Given the description of an element on the screen output the (x, y) to click on. 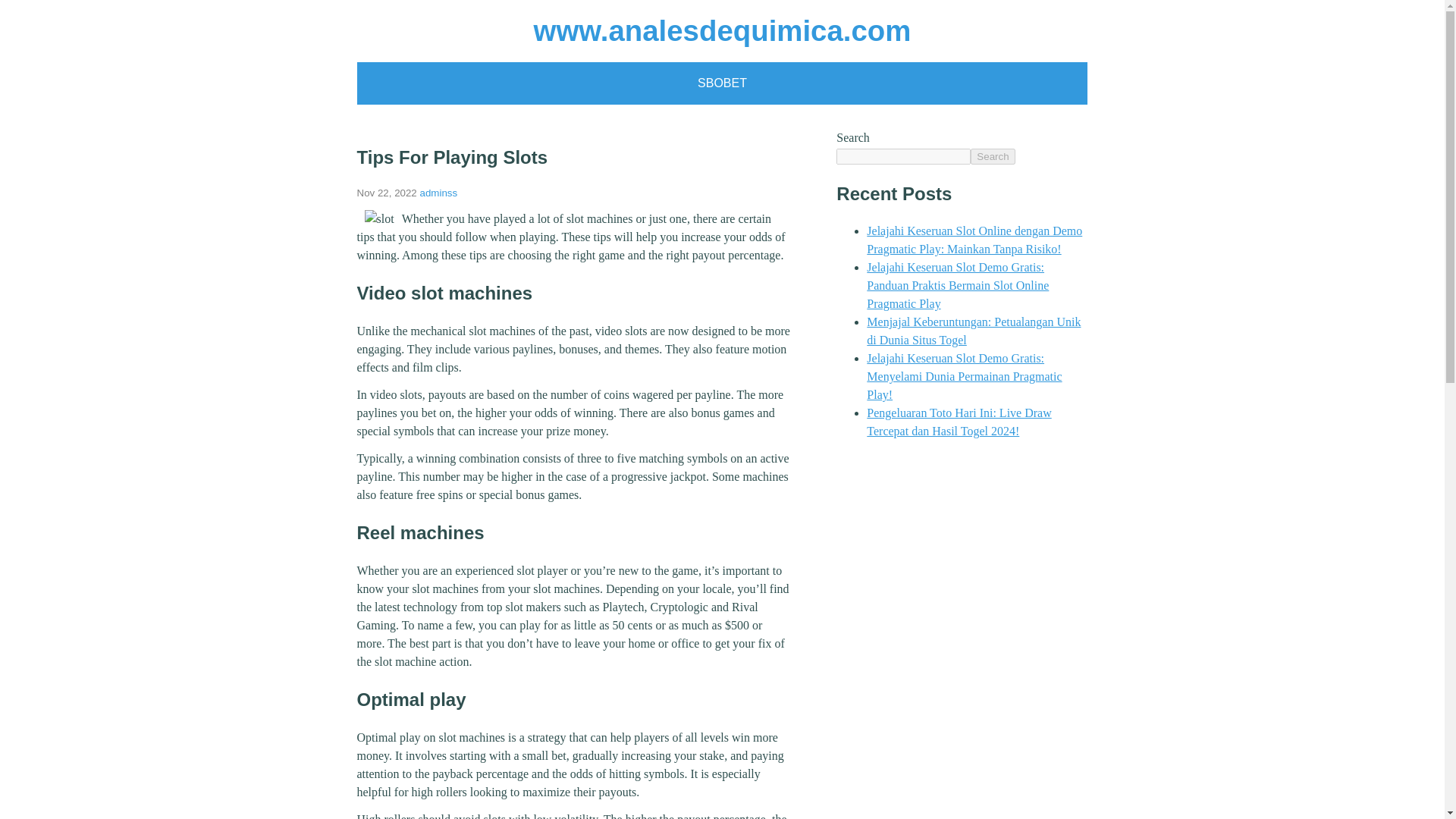
adminss (439, 193)
Search (992, 156)
www.analesdequimica.com (722, 30)
SBOBET (721, 82)
